Given the description of an element on the screen output the (x, y) to click on. 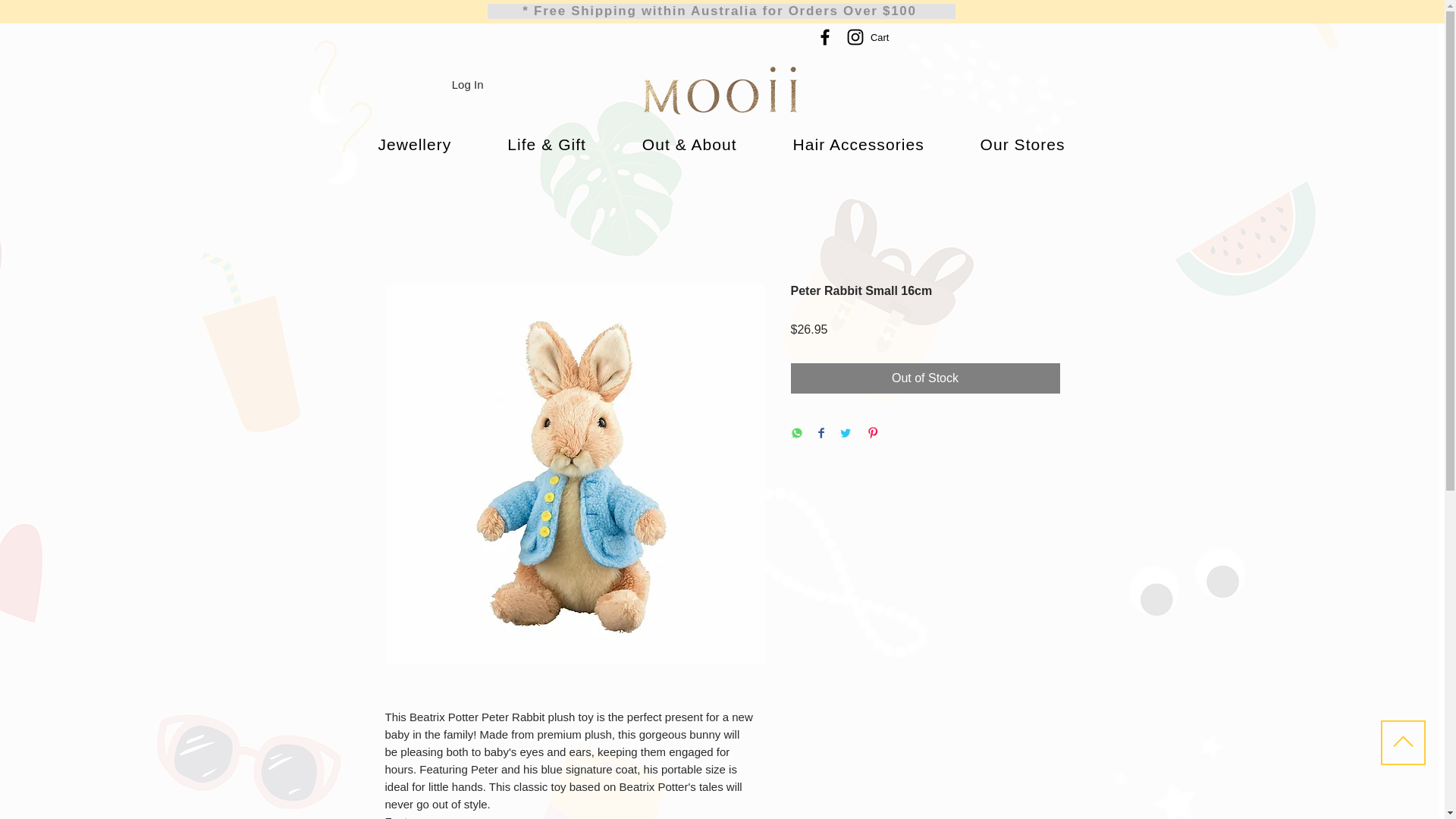
Cart (888, 37)
Log In (468, 84)
Cart (888, 37)
